Given the description of an element on the screen output the (x, y) to click on. 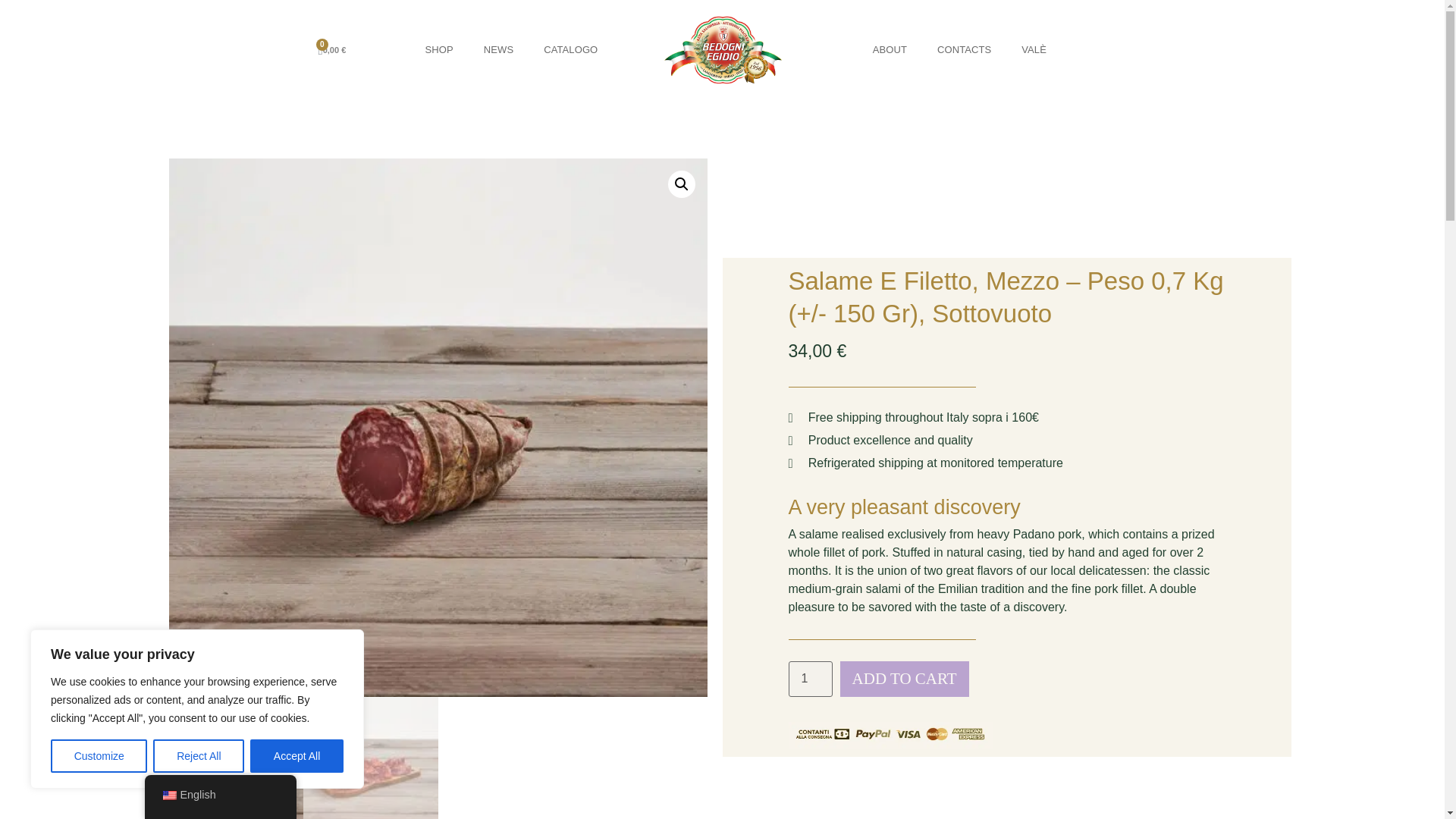
ABOUT (889, 49)
Customize (98, 756)
SHOP (439, 49)
Accept All (296, 756)
NEWS (498, 49)
English (168, 795)
CONTACTS (963, 49)
CATALOGO (570, 49)
1 (810, 678)
Reject All (198, 756)
